Given the description of an element on the screen output the (x, y) to click on. 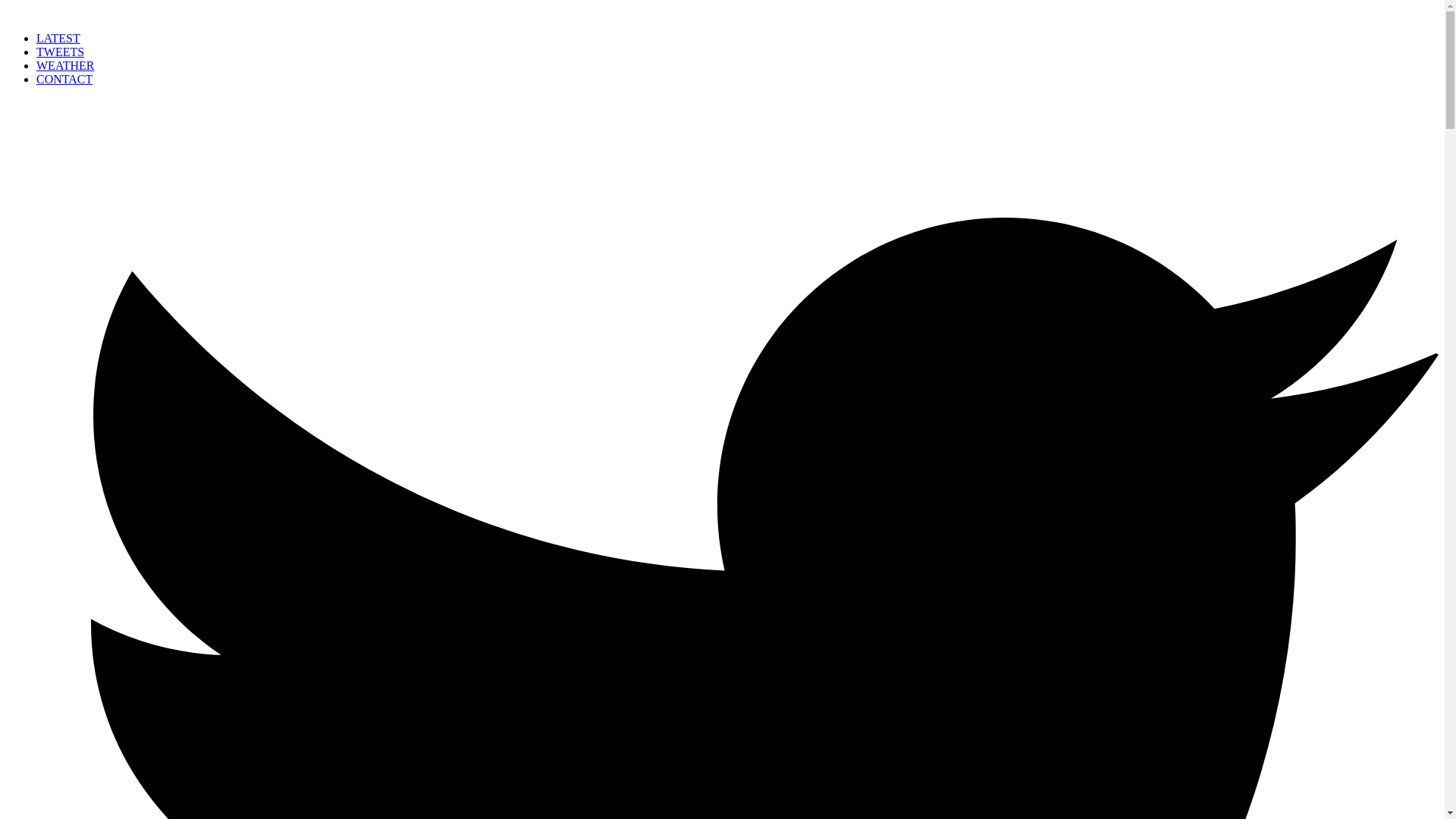
TWEETS (60, 51)
CONTACT (64, 78)
WEATHER (65, 65)
LATEST (58, 38)
